Given the description of an element on the screen output the (x, y) to click on. 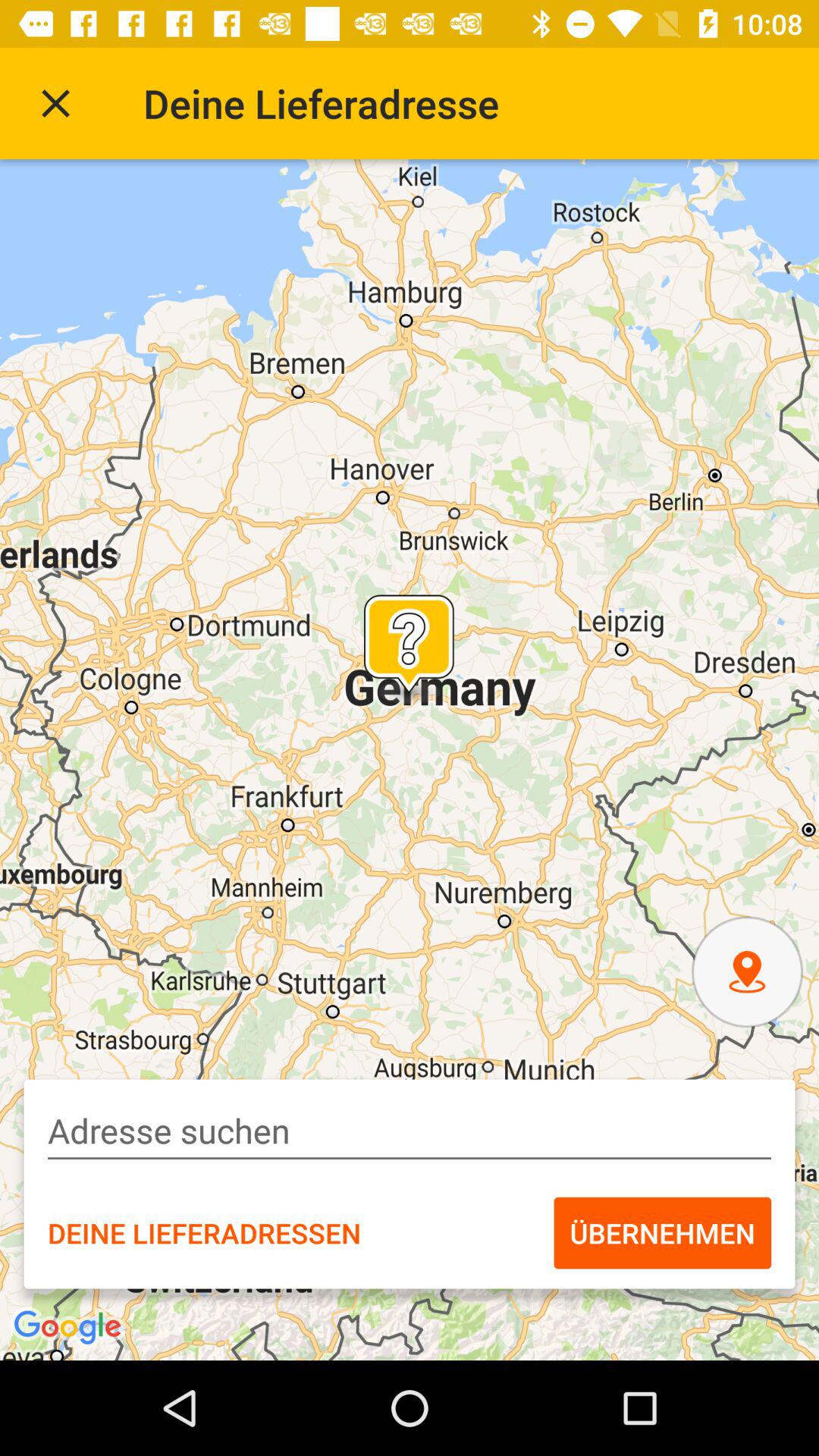
type in address box (409, 1131)
